Given the description of an element on the screen output the (x, y) to click on. 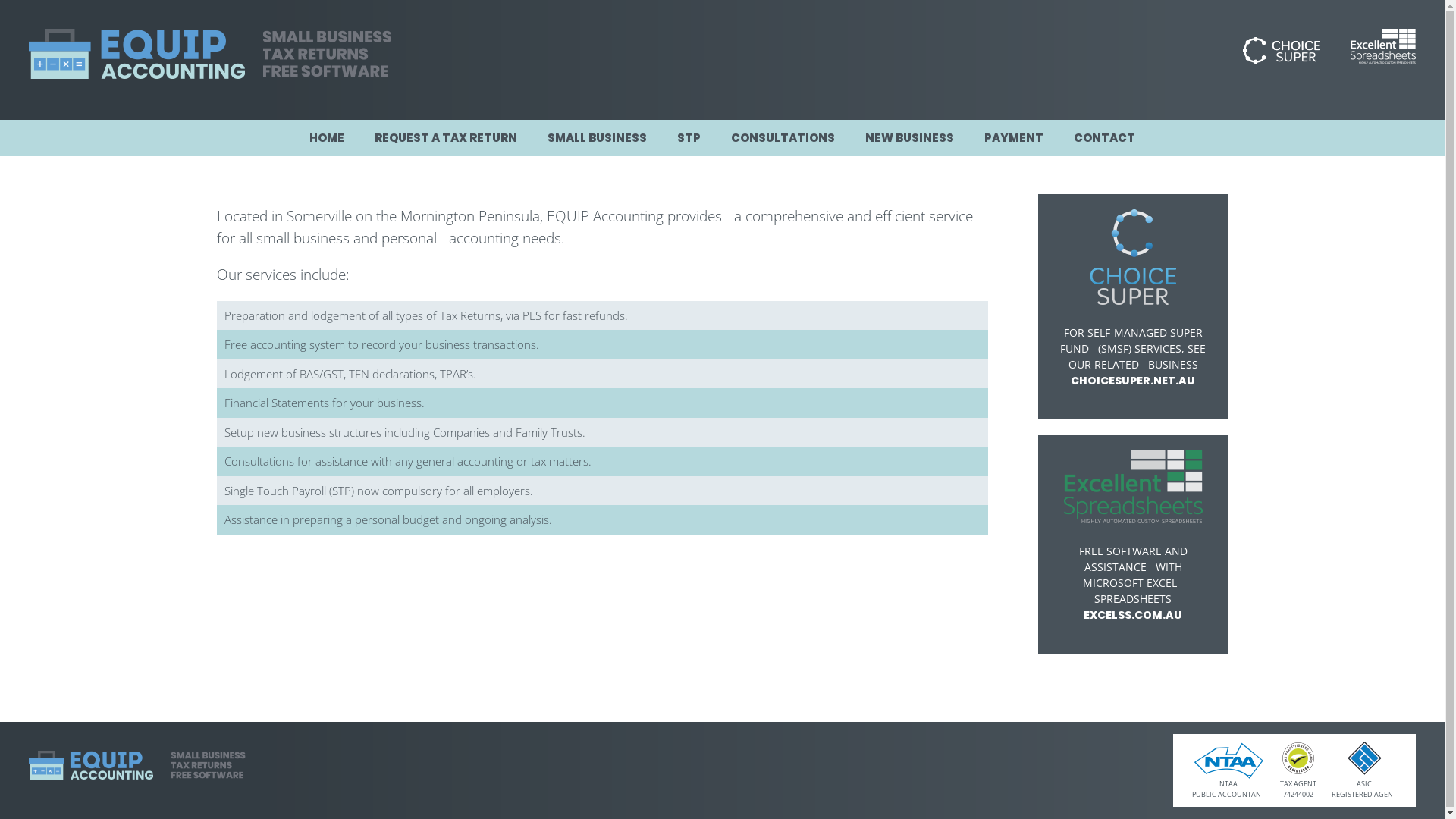
CHOICESUPER.NET.AU Element type: text (1132, 380)
PAYMENT Element type: text (1013, 137)
CONTACT Element type: text (1104, 137)
STP Element type: text (688, 137)
NEW BUSINESS Element type: text (909, 137)
SMALL BUSINESS Element type: text (597, 137)
EXCELSS.COM.AU Element type: text (1132, 613)
REQUEST A TAX RETURN Element type: text (445, 137)
HOME Element type: text (326, 137)
CONSULTATIONS Element type: text (782, 137)
